Given the description of an element on the screen output the (x, y) to click on. 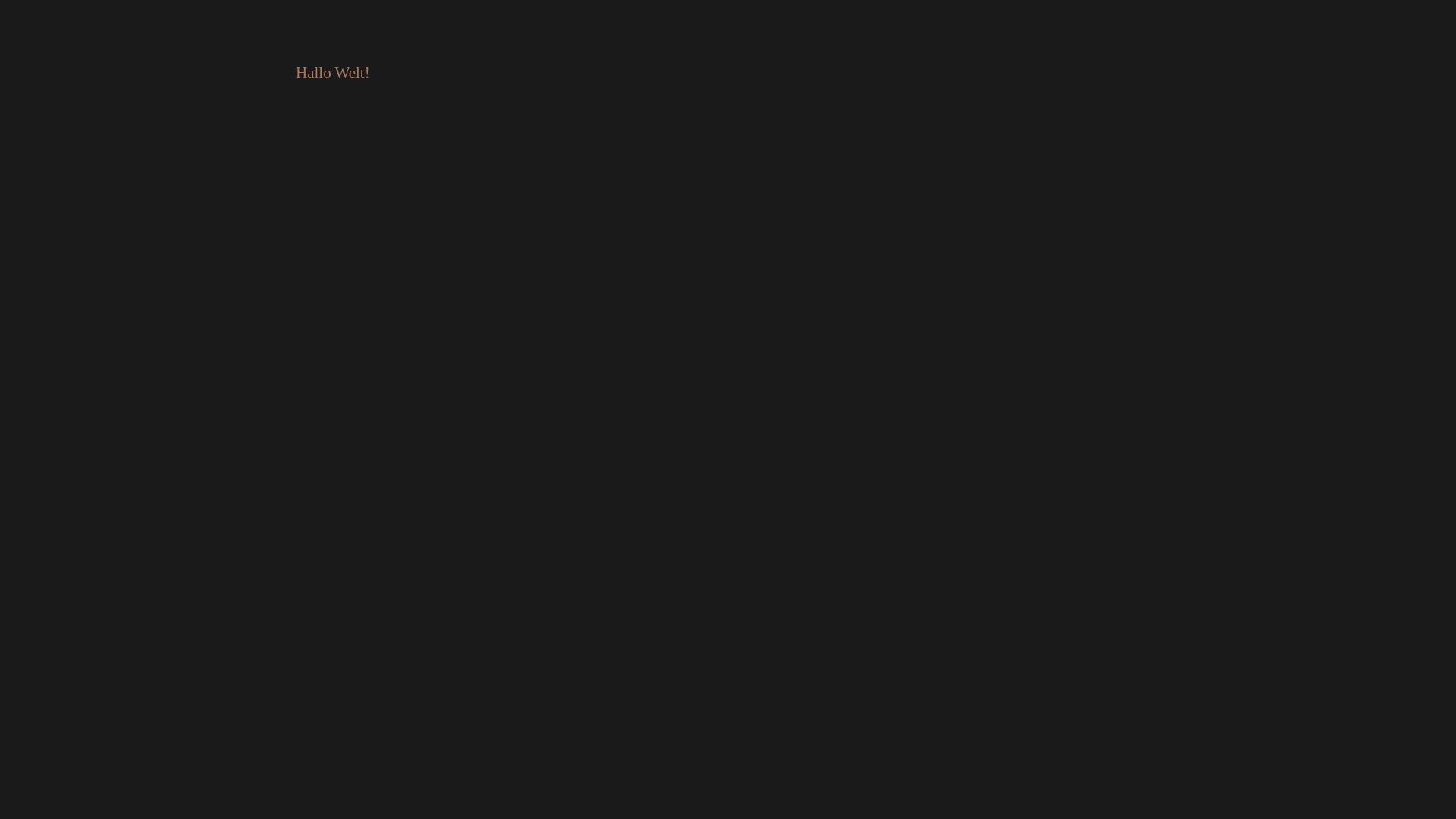
Hallo Welt! Element type: text (332, 72)
